Given the description of an element on the screen output the (x, y) to click on. 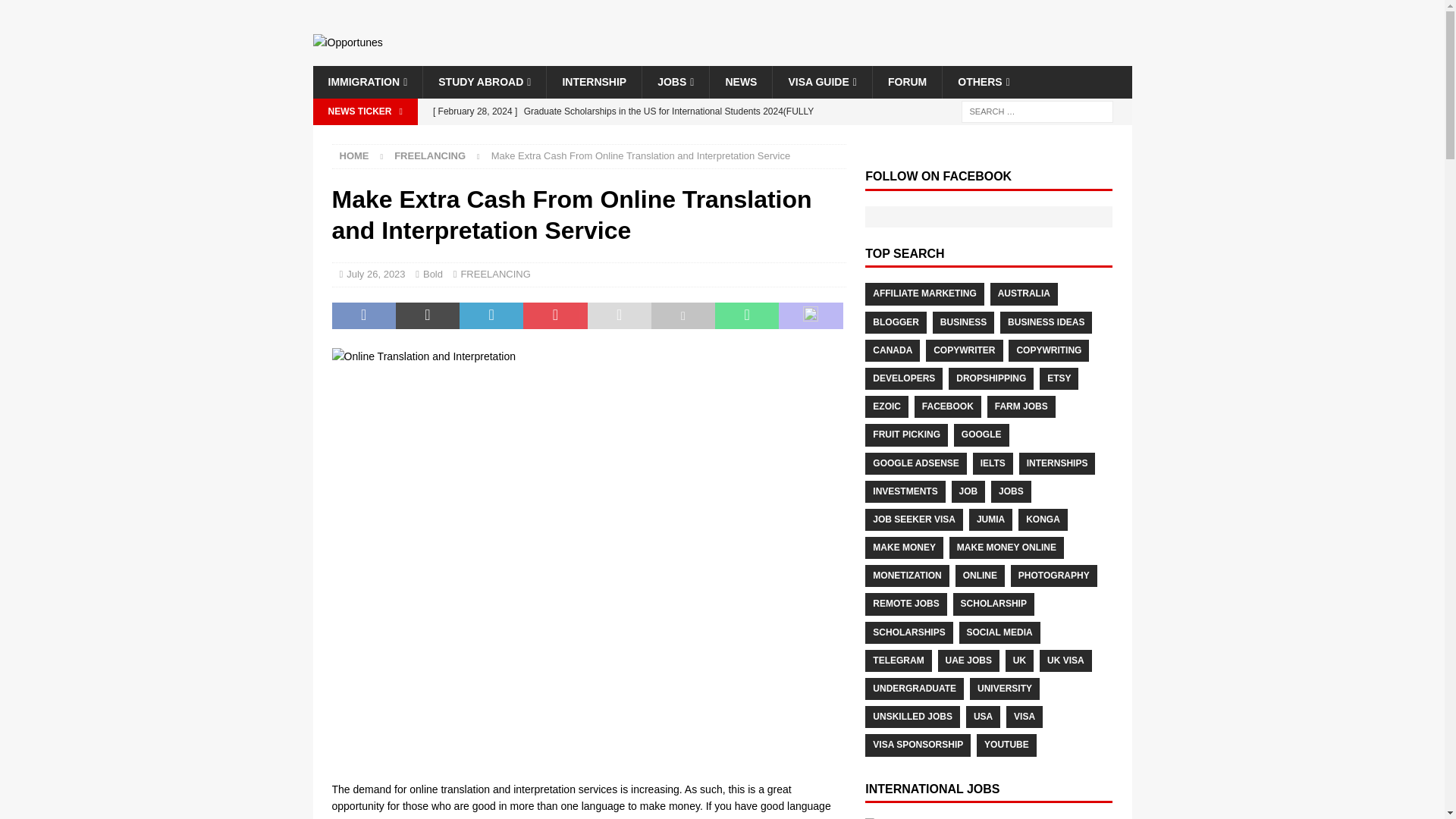
Share on Whatsapp (746, 316)
Share On Mastodon (810, 316)
IMMIGRATION (367, 81)
Home (354, 155)
Pin This Post (554, 316)
INTERNSHIP (594, 81)
VISA GUIDE (821, 81)
Share on Facebook (363, 316)
FORUM (907, 81)
Share on LinkedIn (491, 316)
FREELANCING (429, 155)
Send this article to a friend (619, 316)
Print this article (682, 316)
STUDY ABROAD (484, 81)
OTHERS (983, 81)
